Given the description of an element on the screen output the (x, y) to click on. 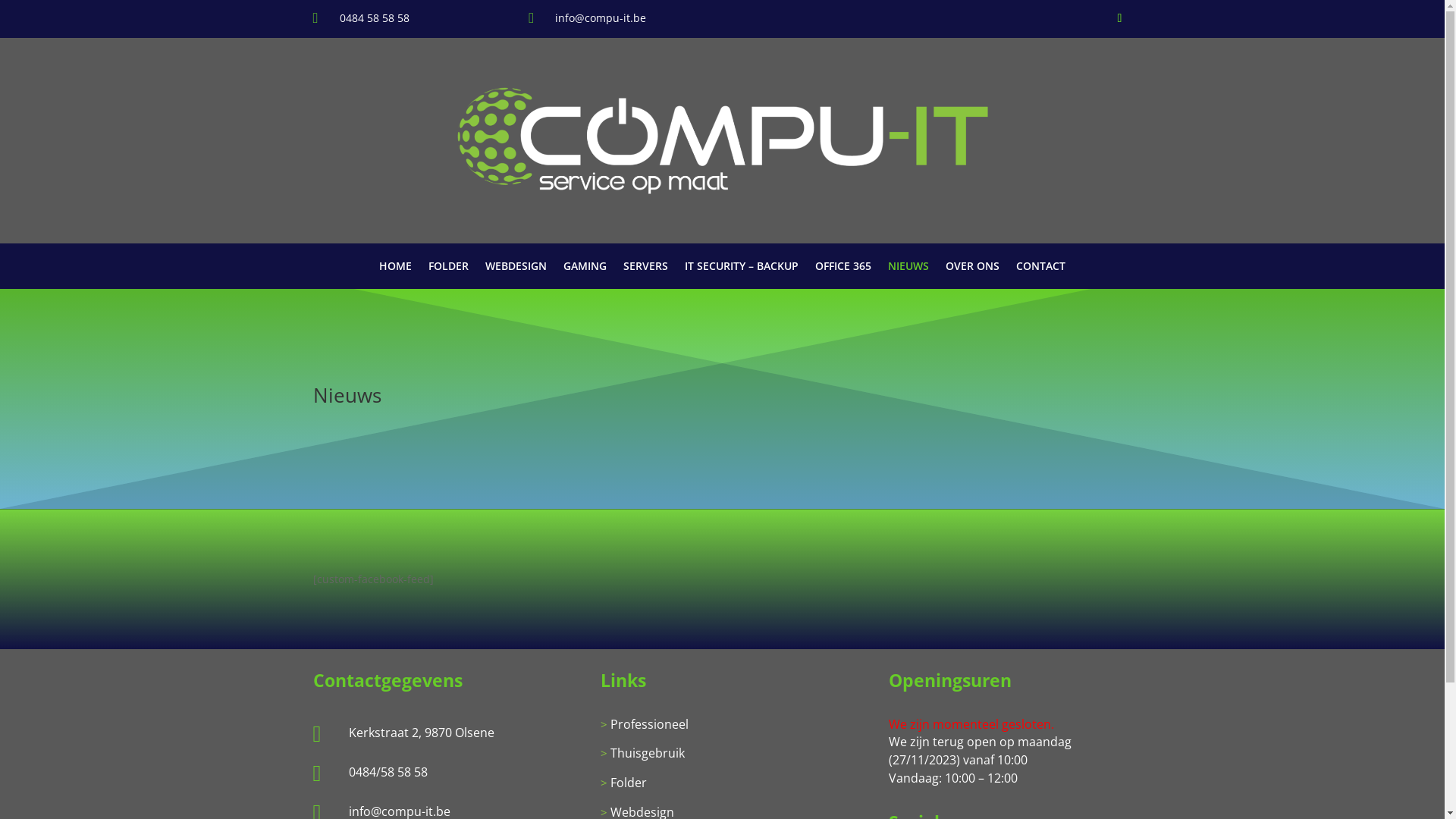
GAMING Element type: text (584, 268)
info@compu-it.be Element type: text (600, 17)
HOME Element type: text (395, 268)
OVER ONS Element type: text (972, 268)
CONTACT Element type: text (1040, 268)
Follow on Facebook Element type: hover (1119, 18)
WEBDESIGN Element type: text (515, 268)
NIEUWS Element type: text (908, 268)
Folder Element type: text (628, 782)
Professioneel Element type: text (649, 723)
FOLDER Element type: text (448, 268)
OFFICE 365 Element type: text (843, 268)
SERVERS Element type: text (645, 268)
Thuisgebruik Element type: text (647, 752)
